Given the description of an element on the screen output the (x, y) to click on. 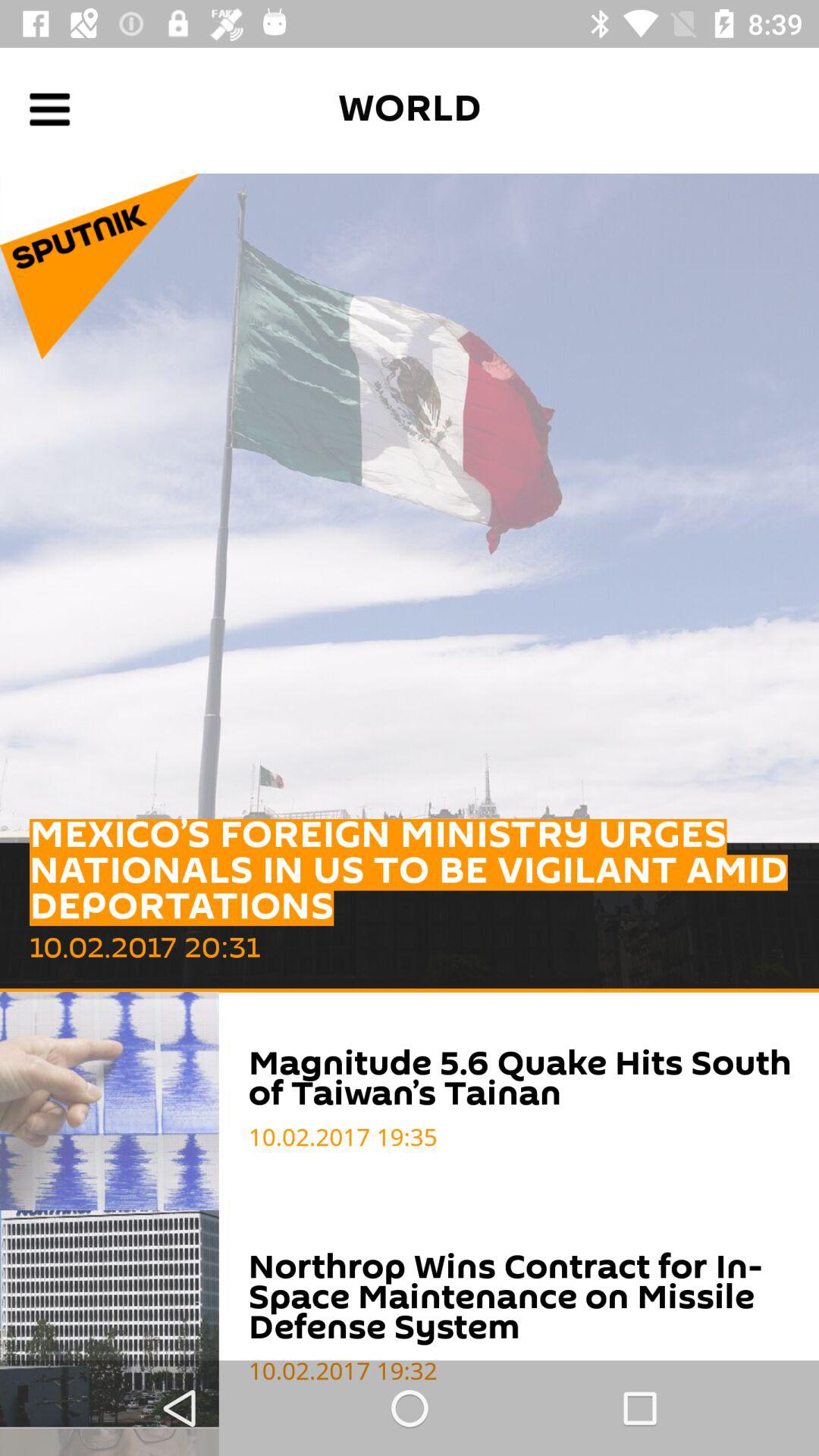
open settings menu (49, 109)
